Given the description of an element on the screen output the (x, y) to click on. 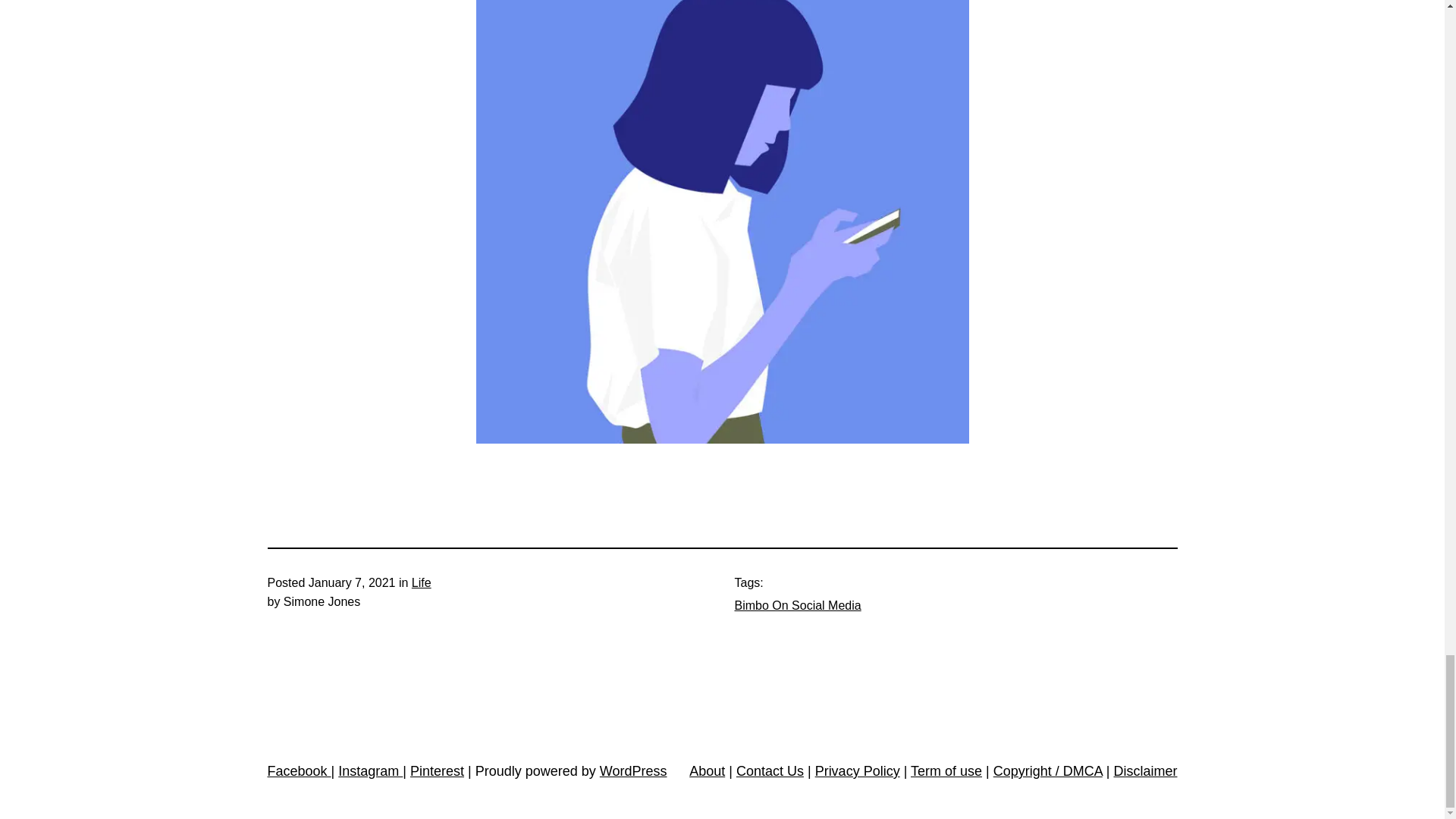
Bimbo On Social Media (796, 604)
Pinterest (437, 770)
Instagram (370, 770)
Disclaimer (1144, 770)
Contact Us (769, 770)
About (706, 770)
Facebook (298, 770)
Term of use (946, 770)
WordPress (632, 770)
Privacy Policy (857, 770)
